Given the description of an element on the screen output the (x, y) to click on. 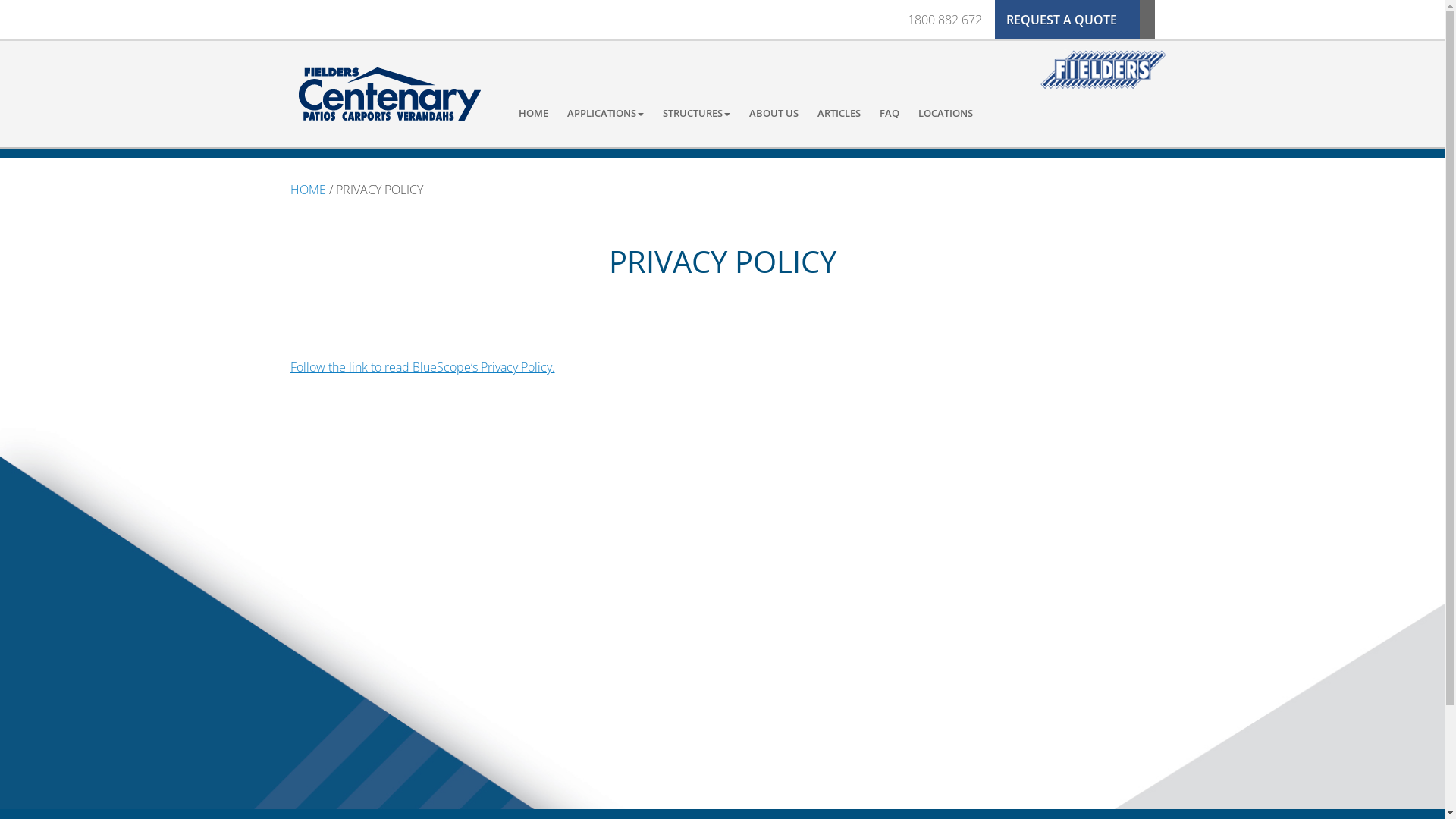
1800 882 672 Element type: text (944, 19)
ARTICLES Element type: text (838, 112)
FAQ Element type: text (889, 112)
HOME Element type: text (533, 112)
HOME Element type: text (307, 189)
LOCATIONS Element type: text (945, 112)
APPLICATIONS Element type: text (605, 112)
STRUCTURES Element type: text (696, 112)
REQUEST A QUOTE Element type: text (1074, 19)
ABOUT US Element type: text (773, 112)
